Given the description of an element on the screen output the (x, y) to click on. 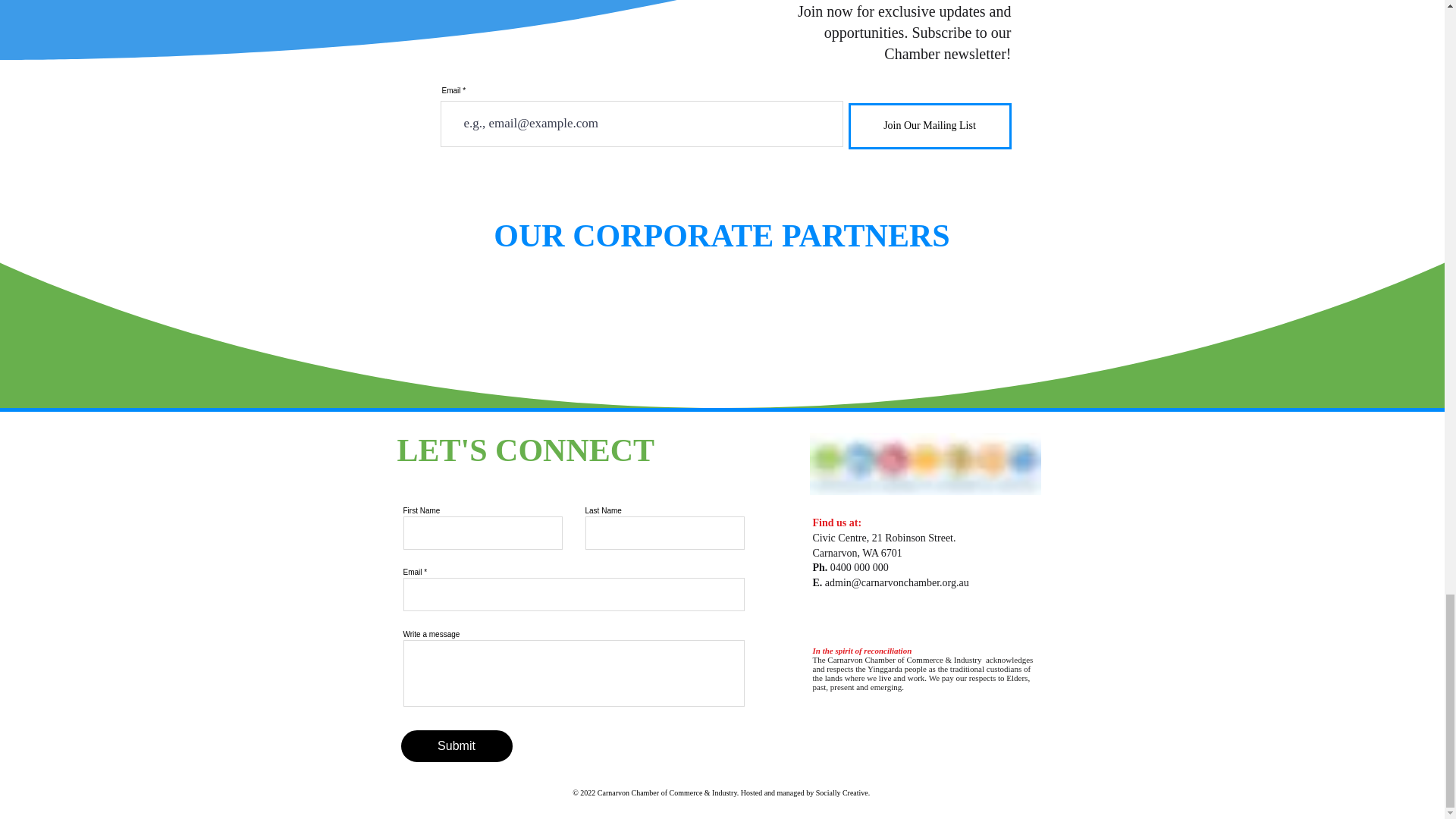
Submit (456, 746)
Join Our Mailing List (928, 126)
